Given the description of an element on the screen output the (x, y) to click on. 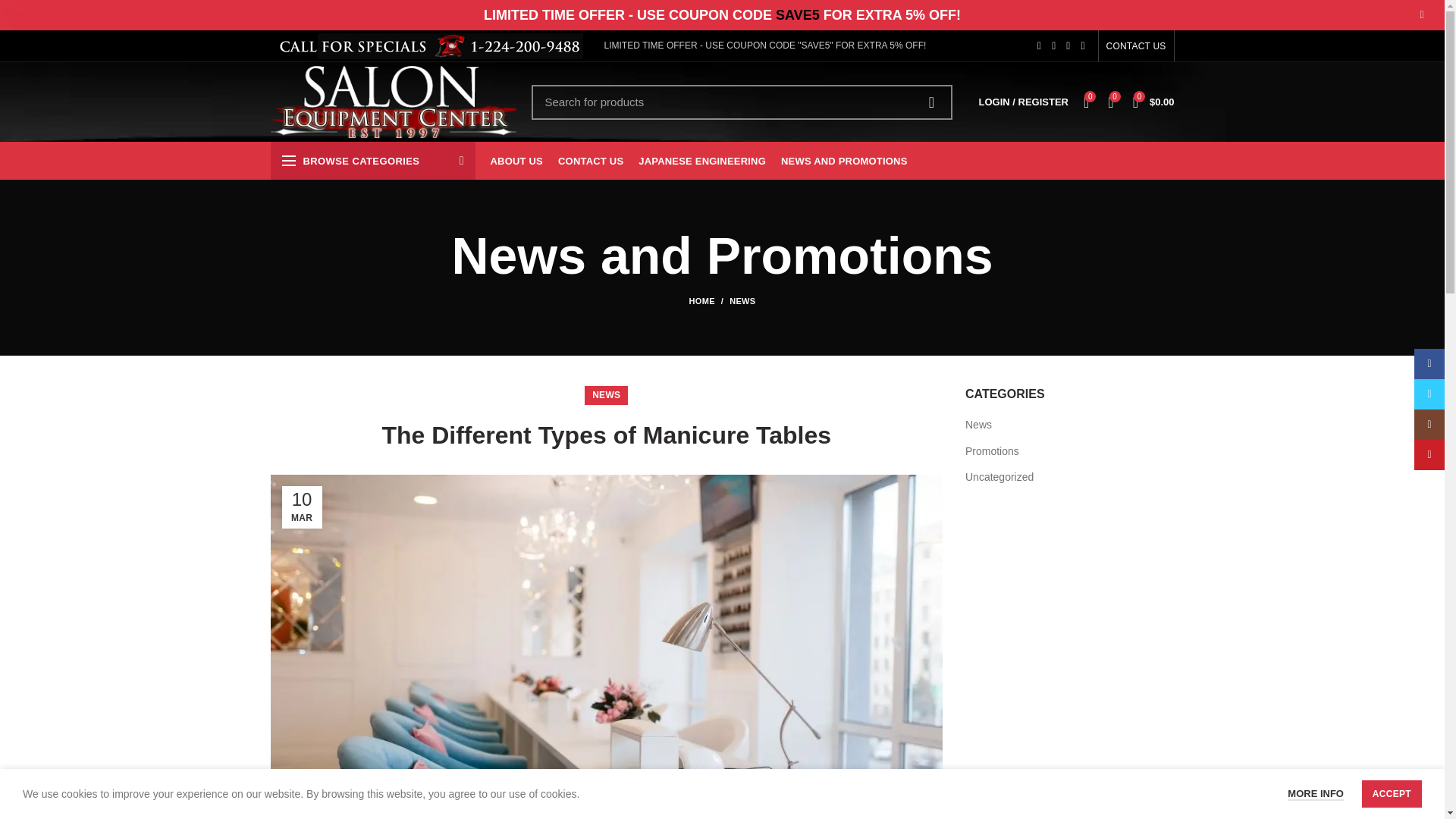
Shopping cart (1153, 101)
My account (1023, 101)
SEARCH (1069, 435)
CONTACT US (931, 102)
